Given the description of an element on the screen output the (x, y) to click on. 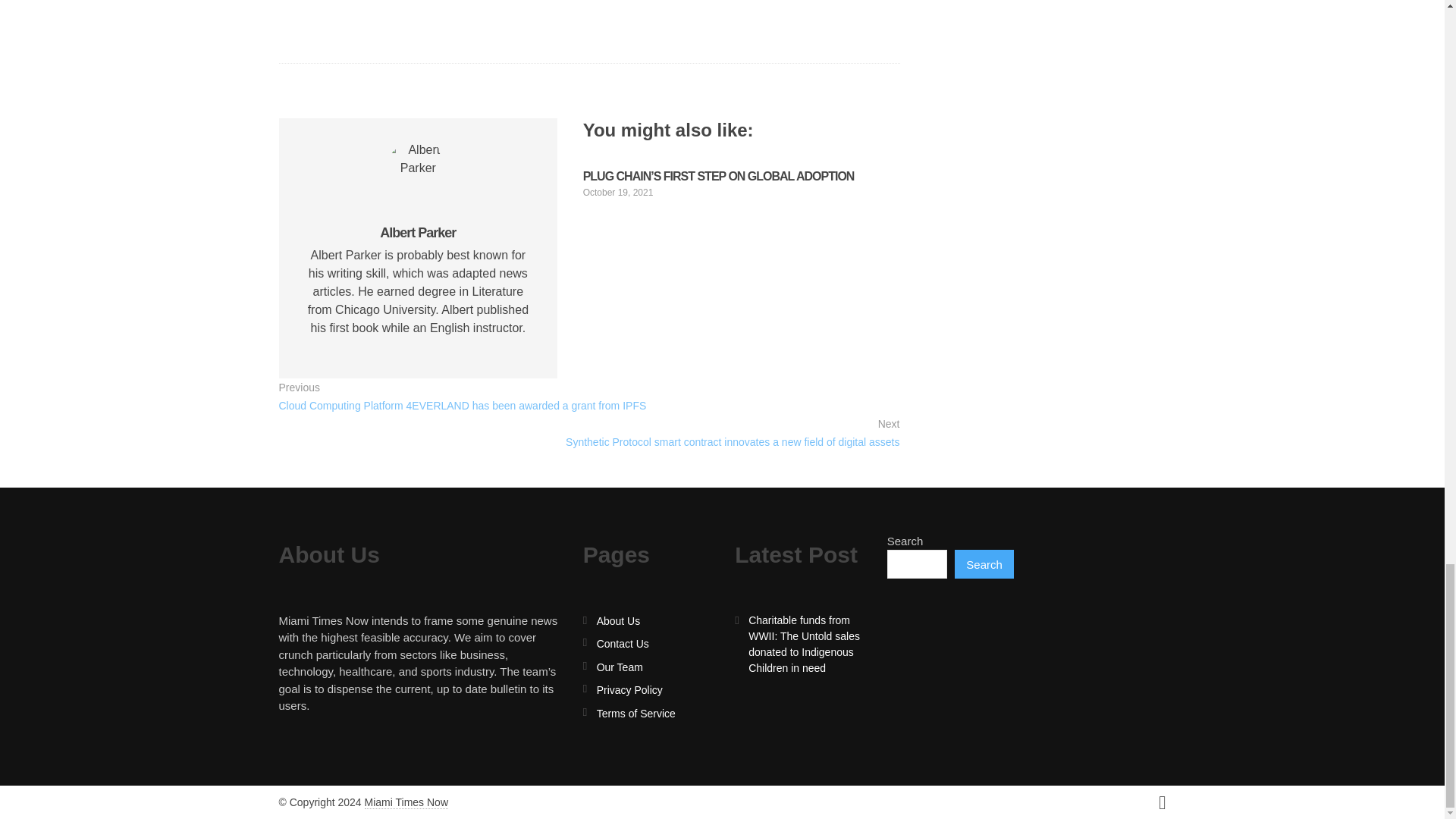
About Us (618, 621)
Privacy Policy (629, 689)
Albert Parker (417, 232)
Contact Us (622, 644)
Our Team (619, 666)
Miami Times Now (406, 802)
Search (984, 563)
Terms of Service (635, 713)
